Given the description of an element on the screen output the (x, y) to click on. 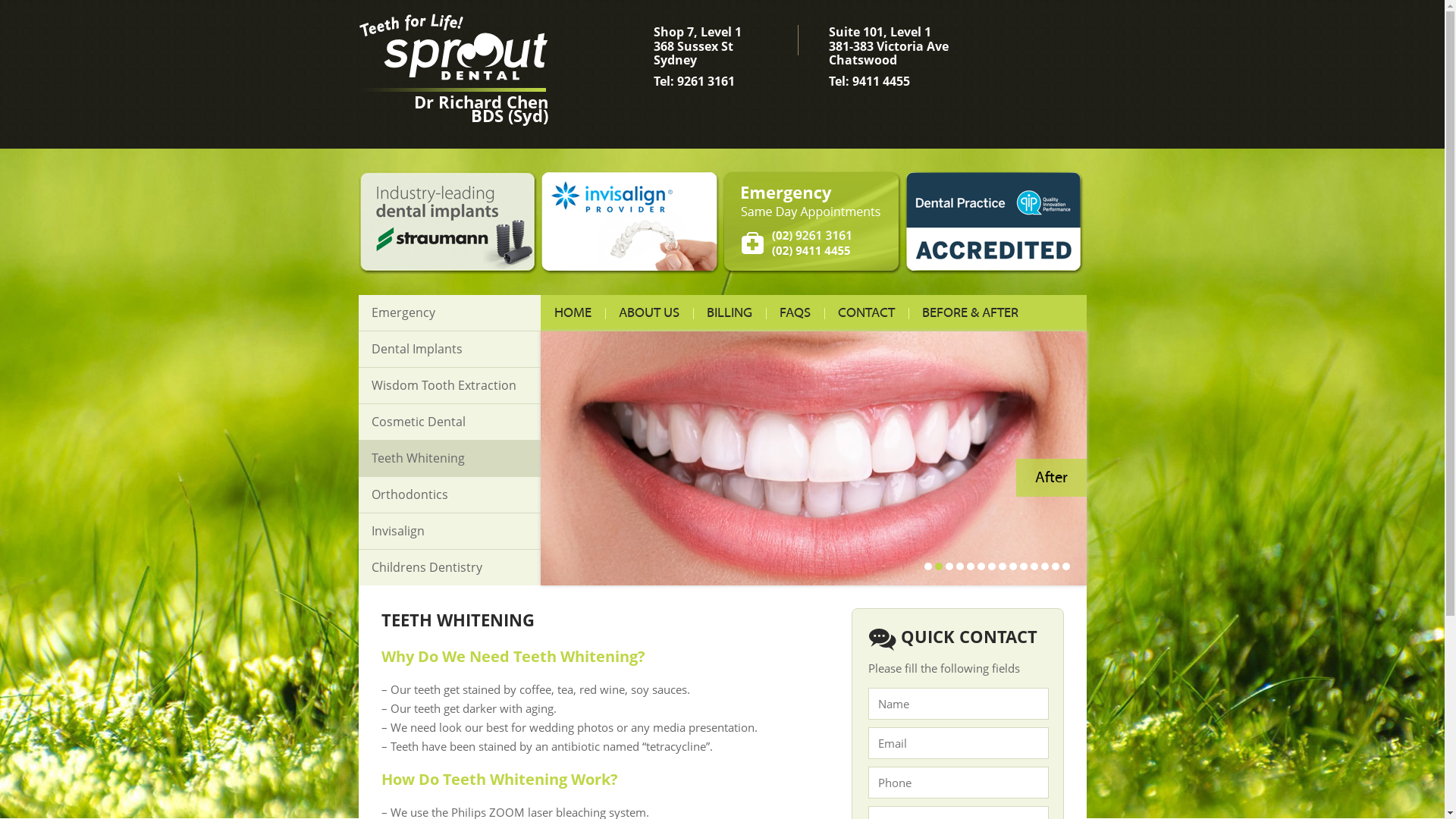
Emergency Element type: text (448, 312)
3 Element type: text (948, 566)
11 Element type: text (1033, 566)
Childrens Dentistry Element type: text (448, 567)
Invisalign Element type: text (448, 531)
6 Element type: text (980, 566)
8 Element type: text (1001, 566)
CONTACT Element type: text (865, 312)
13 Element type: text (1054, 566)
Teeth Whitening Element type: text (448, 458)
4 Element type: text (959, 566)
Dental Implants Element type: text (448, 349)
2 Element type: text (937, 566)
14 Element type: text (1065, 566)
5 Element type: text (969, 566)
FAQS Element type: text (794, 312)
Wisdom Tooth Extraction Element type: text (448, 385)
1 Element type: text (927, 566)
10 Element type: text (1022, 566)
Orthodontics Element type: text (448, 494)
9 Element type: text (1012, 566)
BILLING Element type: text (729, 312)
12 Element type: text (1044, 566)
BEFORE & AFTER Element type: text (970, 312)
HOME Element type: text (571, 312)
7 Element type: text (990, 566)
ABOUT US Element type: text (649, 312)
Cosmetic Dental Element type: text (448, 421)
